Given the description of an element on the screen output the (x, y) to click on. 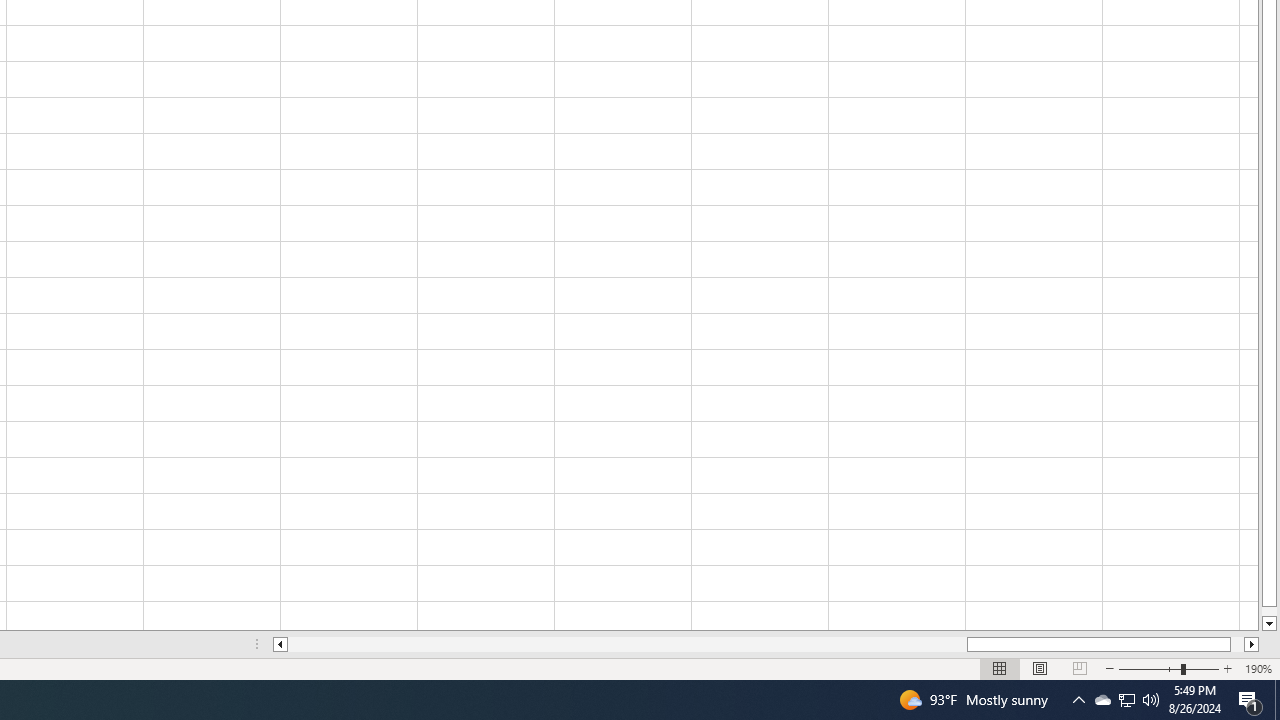
Page right (1237, 644)
Normal (1000, 668)
Zoom (1168, 668)
Column left (279, 644)
Zoom Out (1149, 668)
Column right (1252, 644)
Page left (627, 644)
Page Break Preview (1079, 668)
Line down (1268, 624)
Zoom In (1227, 668)
Class: NetUIScrollBar (765, 644)
Page down (1268, 611)
